Given the description of an element on the screen output the (x, y) to click on. 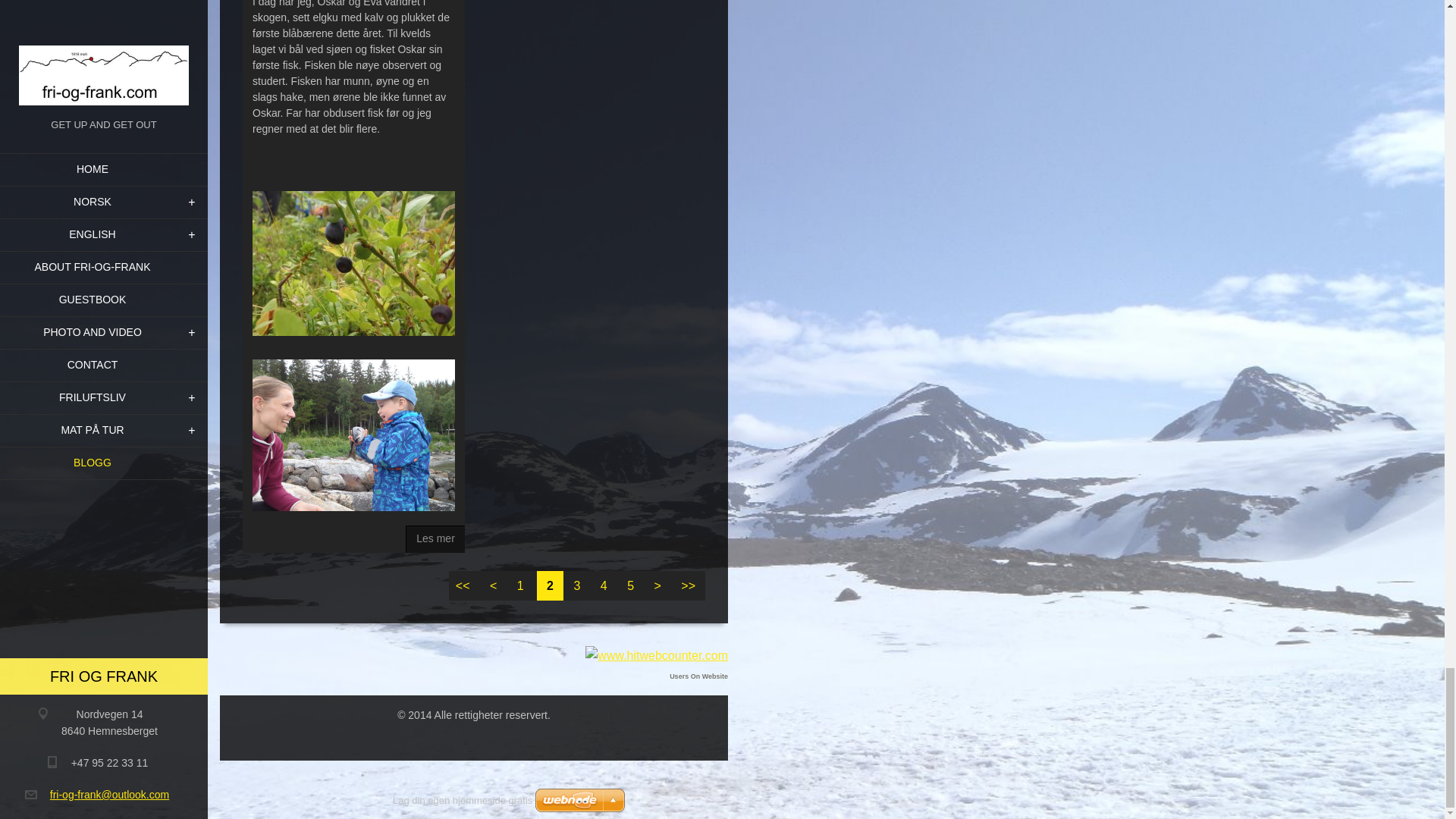
www.hitwebcounter.com (656, 655)
Users On Website (698, 676)
Se hele artikkelen. (435, 538)
